Given the description of an element on the screen output the (x, y) to click on. 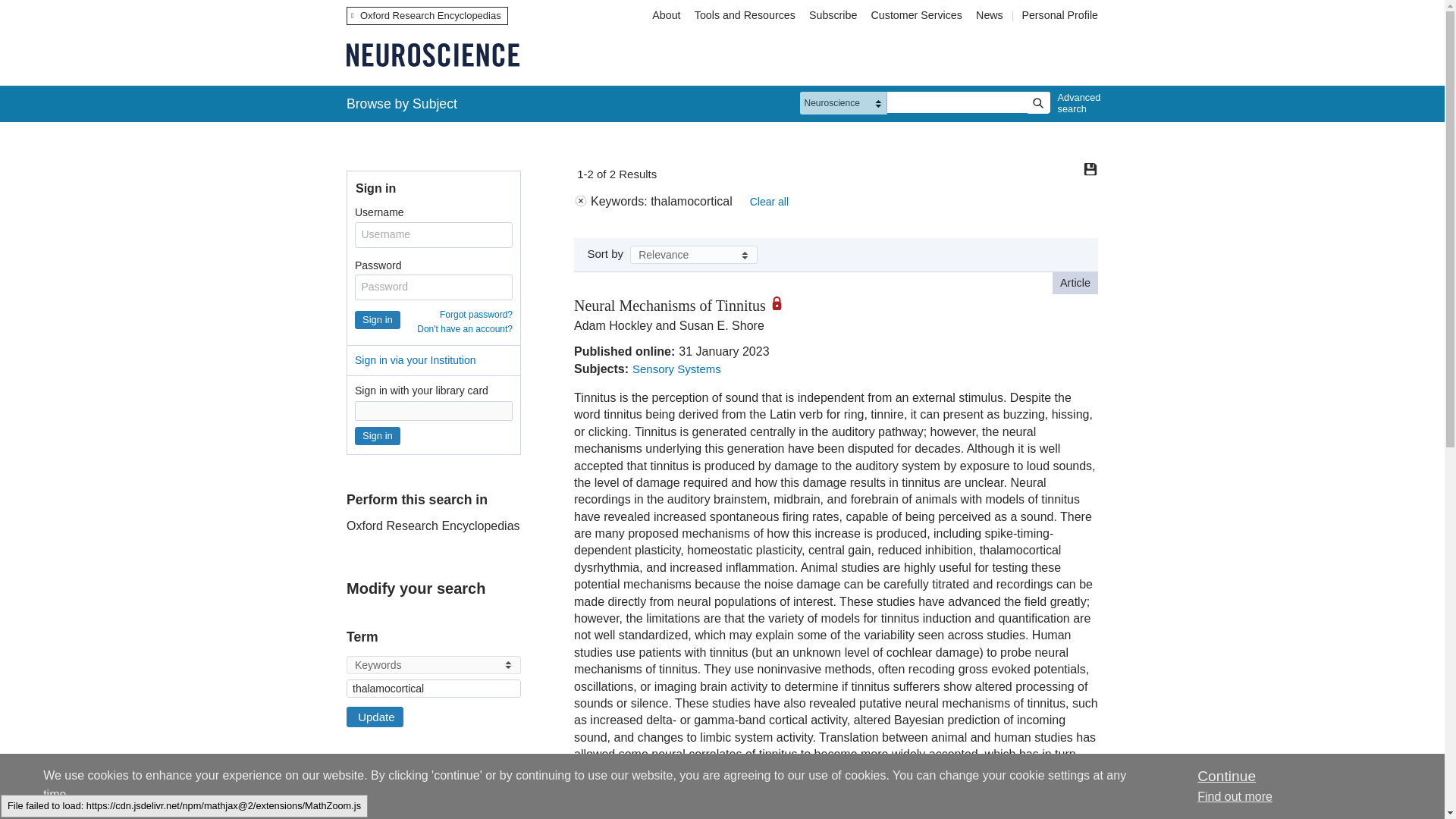
Advanced search (1075, 103)
Continue (1225, 775)
About (665, 15)
Jump to Content (55, 11)
Subject Reference (351, 809)
News (991, 15)
How we use cookies on this site (1234, 796)
Oxford Research Encyclopedias (427, 15)
Search (1037, 102)
Close this message (1225, 775)
Browse by Subject (401, 103)
Sign in (377, 320)
Tools and Resources (744, 15)
Search (1037, 102)
Save (1090, 168)
